Given the description of an element on the screen output the (x, y) to click on. 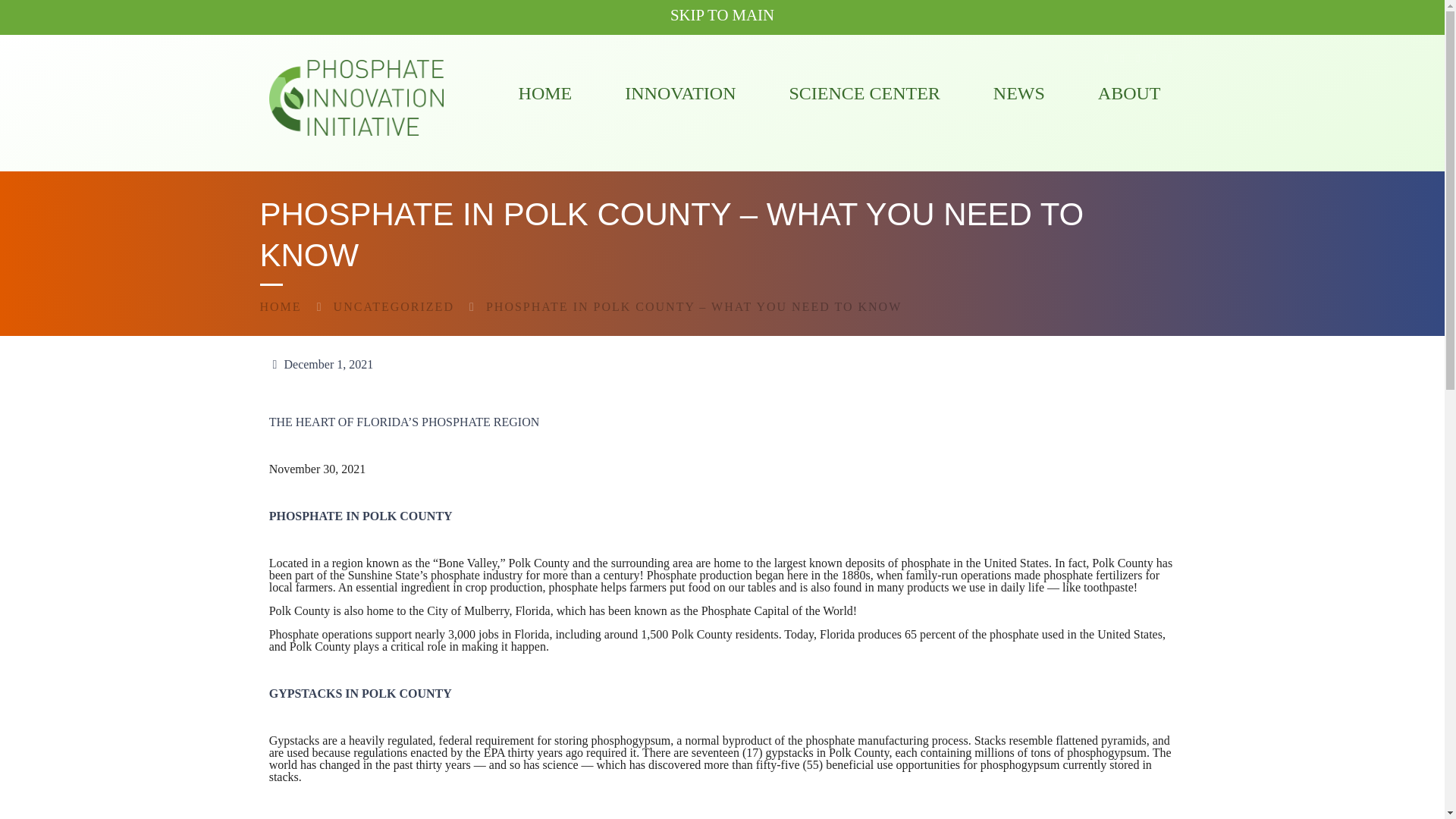
HOME (280, 306)
UNCATEGORIZED (393, 306)
INNOVATION (680, 92)
LinkedIn (1153, 58)
YouTube (1138, 58)
SCIENCE CENTER (864, 92)
NEWS (1018, 92)
PG Reuse (354, 96)
Instagram (1170, 58)
HOME (545, 92)
